Given the description of an element on the screen output the (x, y) to click on. 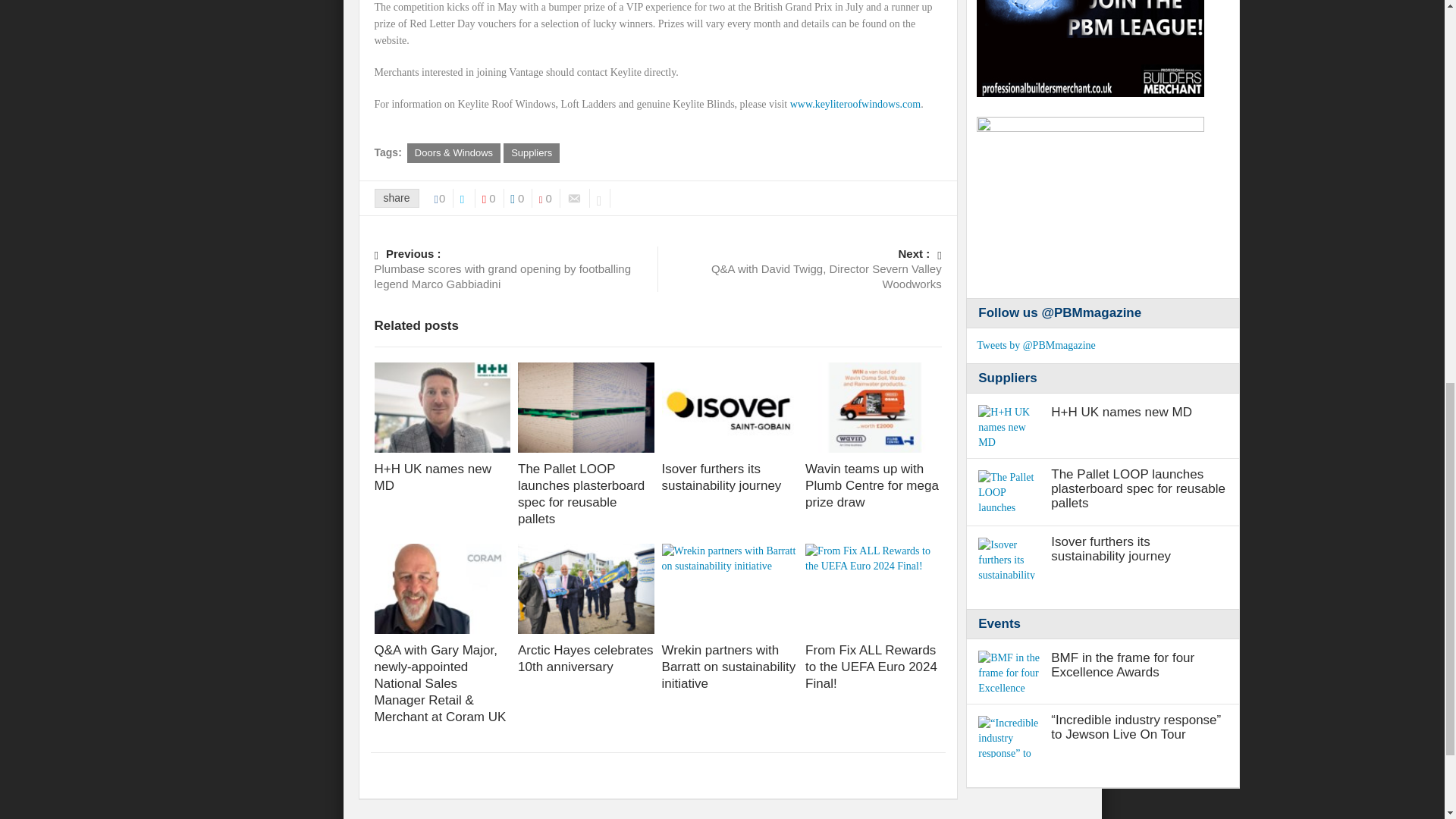
0 (492, 198)
www.keyliteroofwindows.com (855, 103)
Suppliers (531, 152)
0 (443, 198)
0 (549, 198)
0 (521, 198)
